Given the description of an element on the screen output the (x, y) to click on. 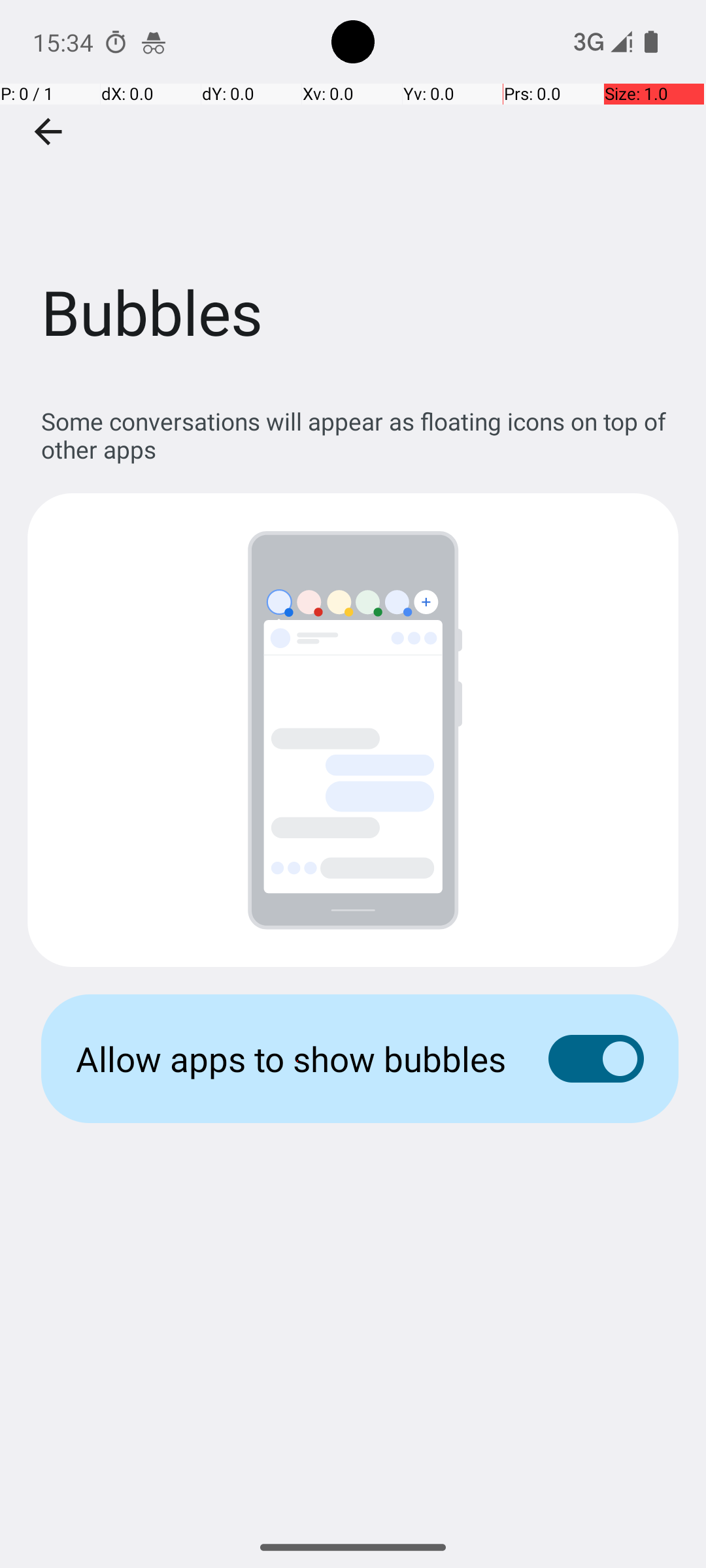
Some conversations will appear as floating icons on top of other apps Element type: android.widget.TextView (359, 434)
Allow apps to show bubbles Element type: android.widget.TextView (291, 1058)
